Given the description of an element on the screen output the (x, y) to click on. 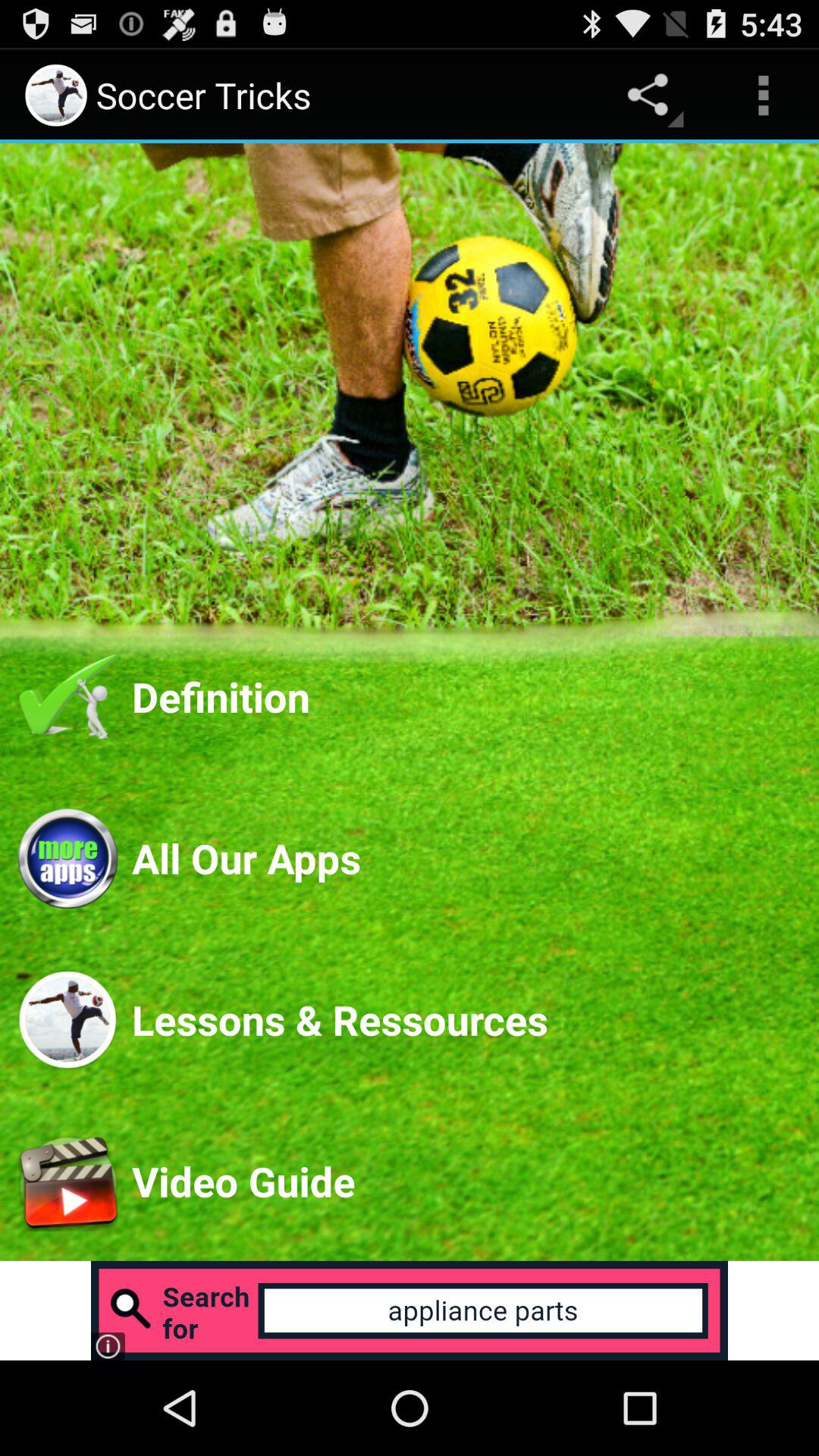
launch the icon below the definition app (465, 857)
